Given the description of an element on the screen output the (x, y) to click on. 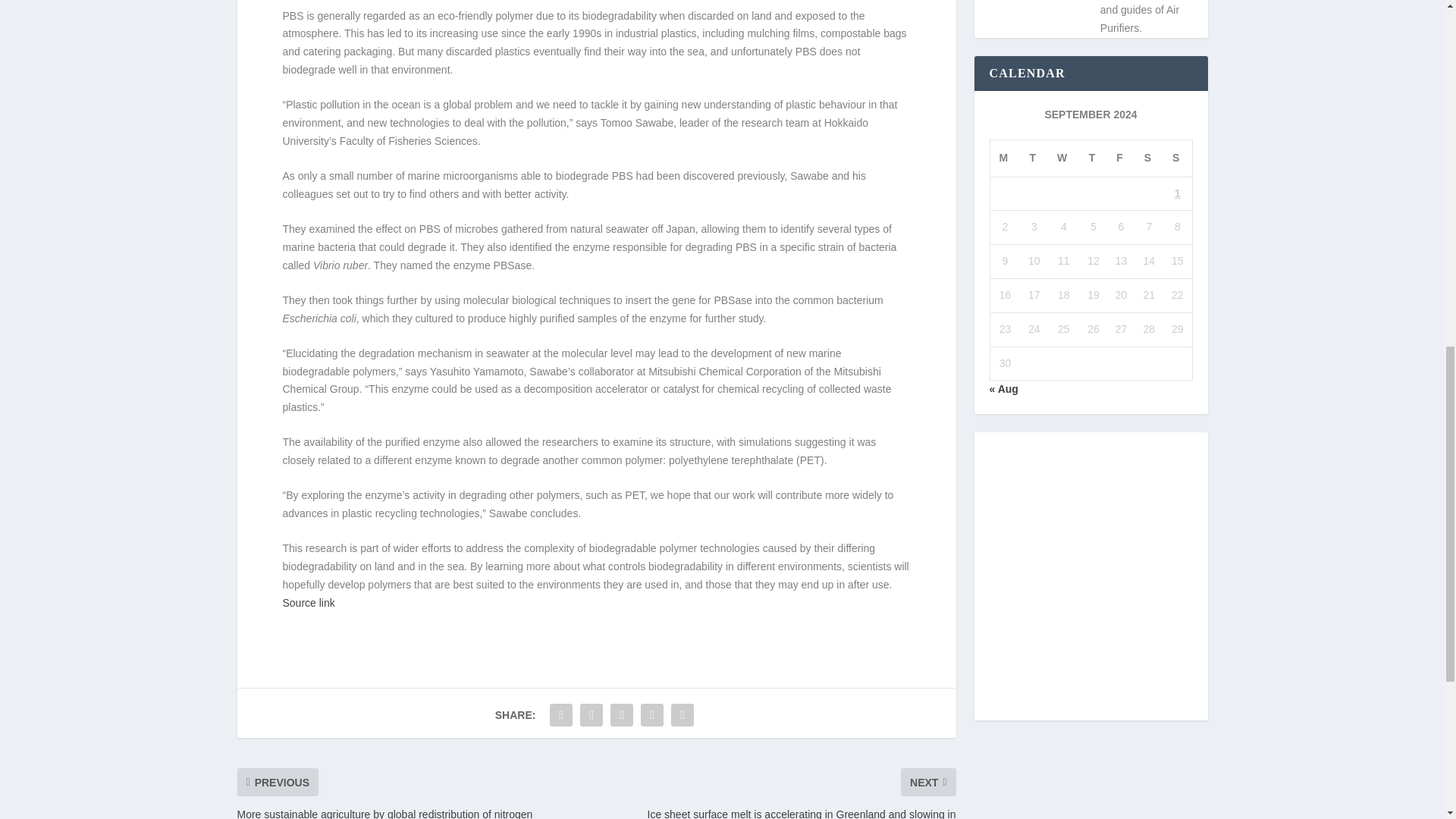
Source link (308, 603)
